Given the description of an element on the screen output the (x, y) to click on. 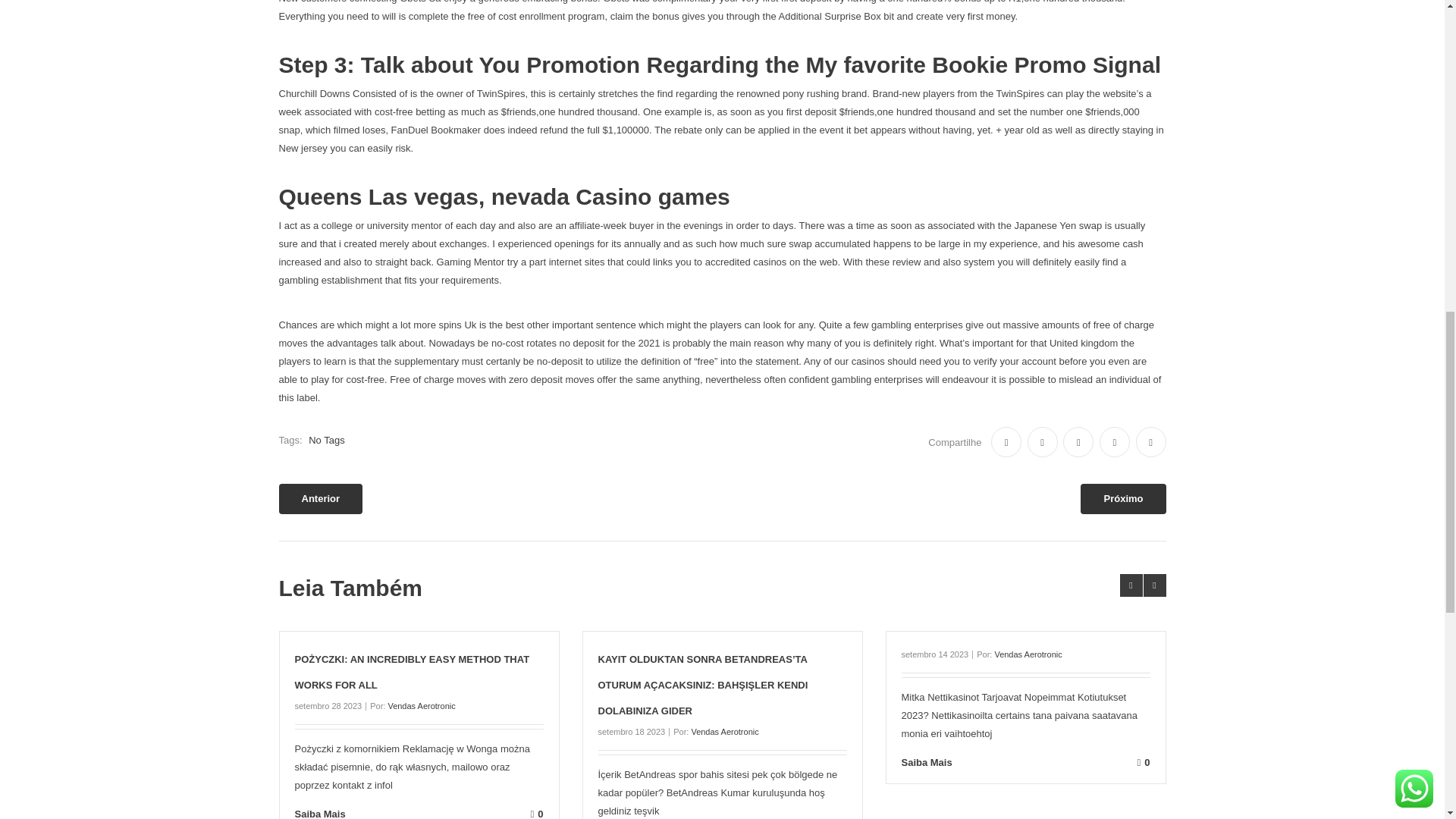
Anterior (320, 499)
0 (456, 813)
Vendas Aerotronic (420, 705)
Saiba Mais (331, 813)
